Given the description of an element on the screen output the (x, y) to click on. 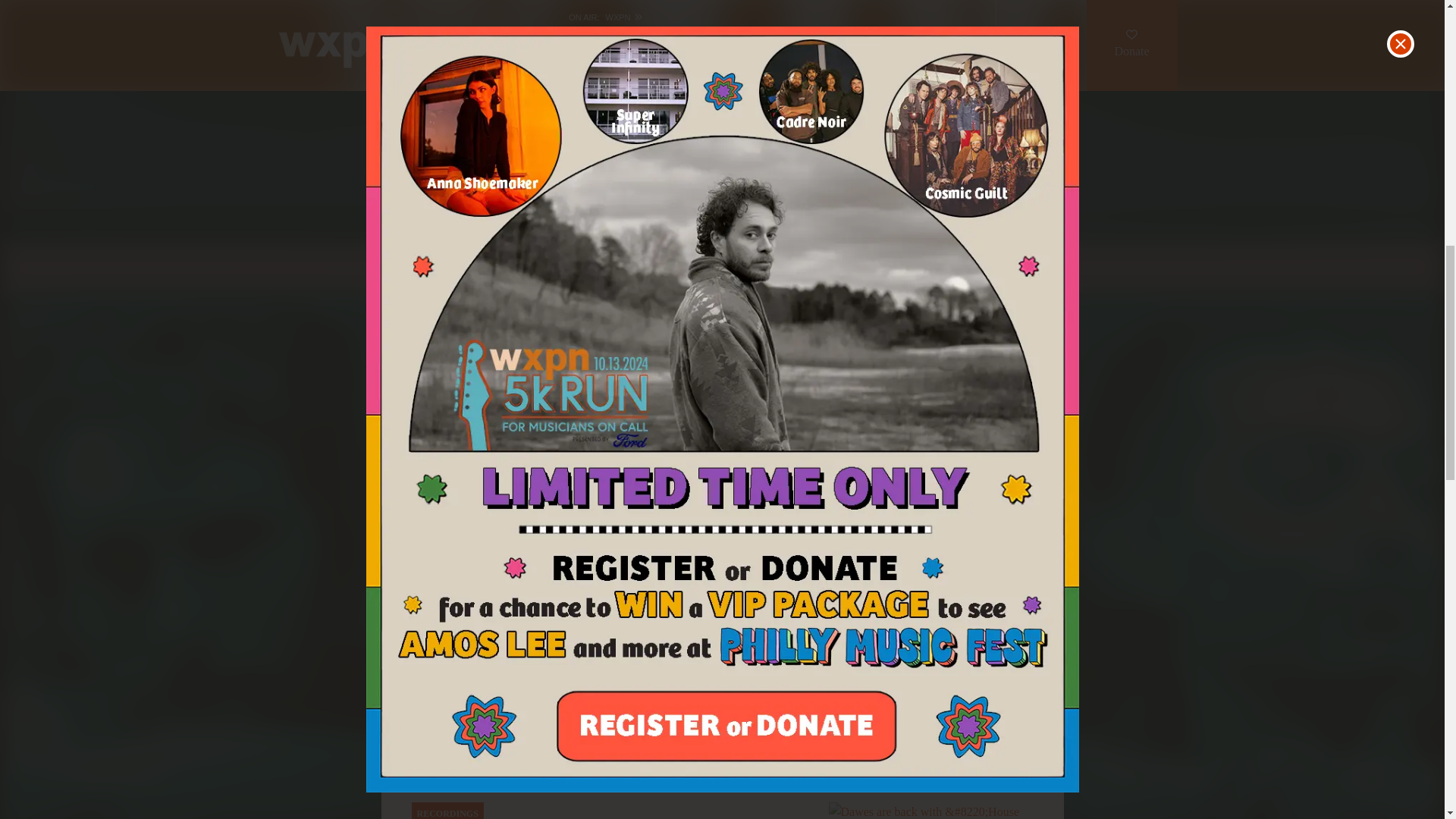
Better (627, 576)
